Given the description of an element on the screen output the (x, y) to click on. 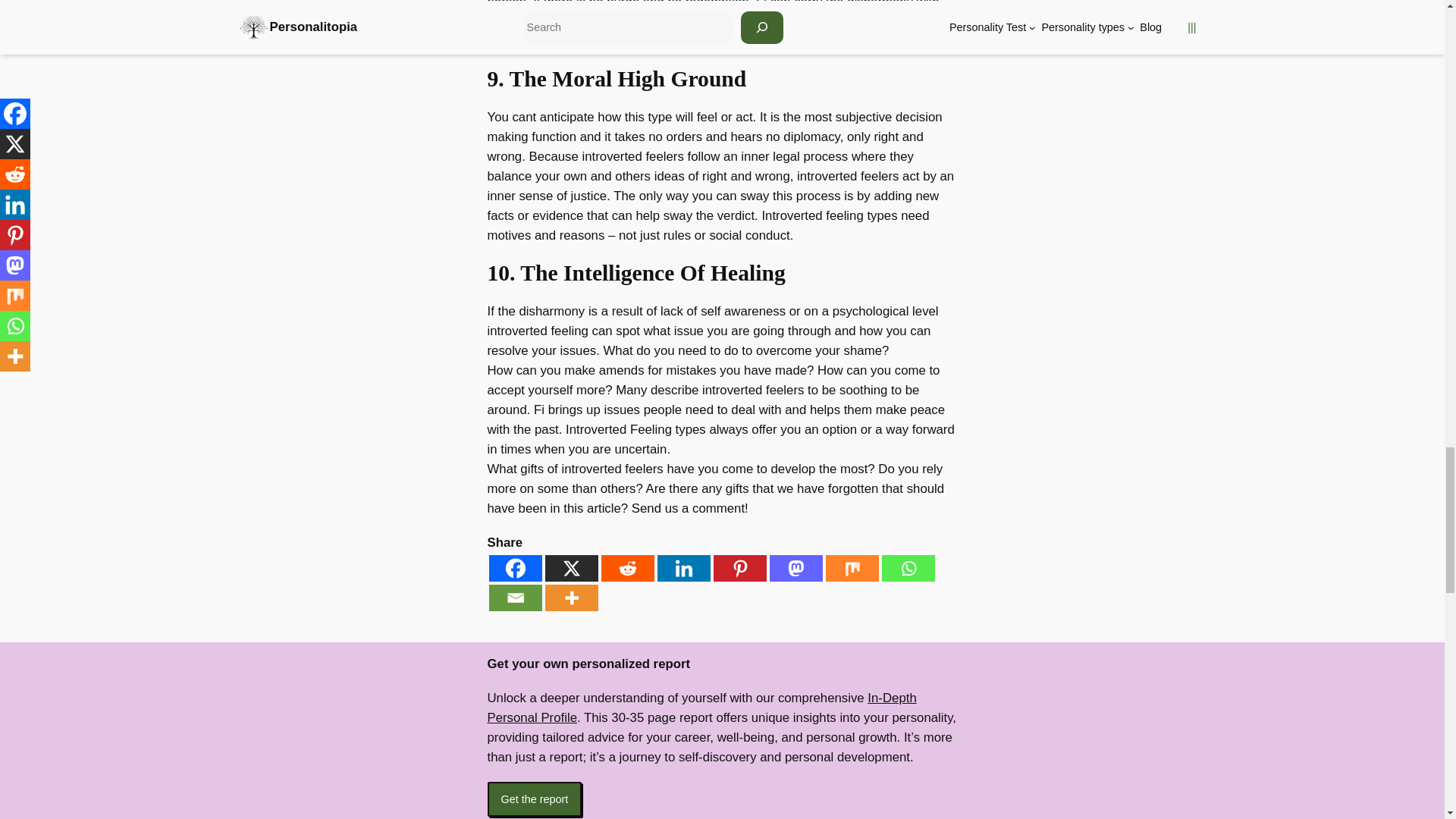
X (570, 568)
More (570, 597)
Whatsapp (907, 568)
Linkedin (683, 568)
Email (514, 597)
Mastodon (795, 568)
Pinterest (739, 568)
Reddit (626, 568)
Mix (851, 568)
Facebook (514, 568)
